Given the description of an element on the screen output the (x, y) to click on. 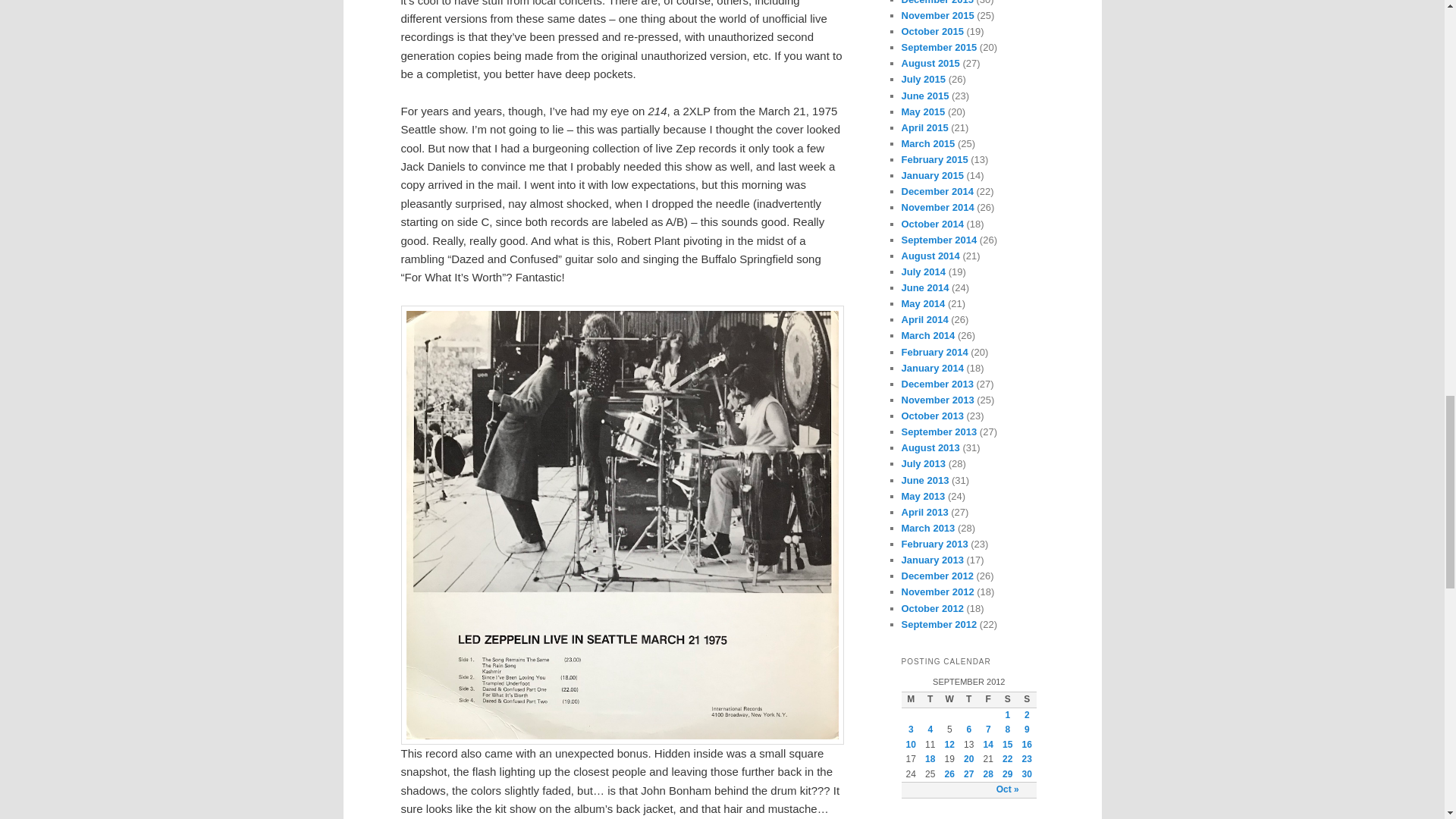
Thursday (968, 699)
Sunday (1026, 699)
Friday (987, 699)
Saturday (1007, 699)
Tuesday (930, 699)
Monday (910, 699)
Wednesday (949, 699)
